Given the description of an element on the screen output the (x, y) to click on. 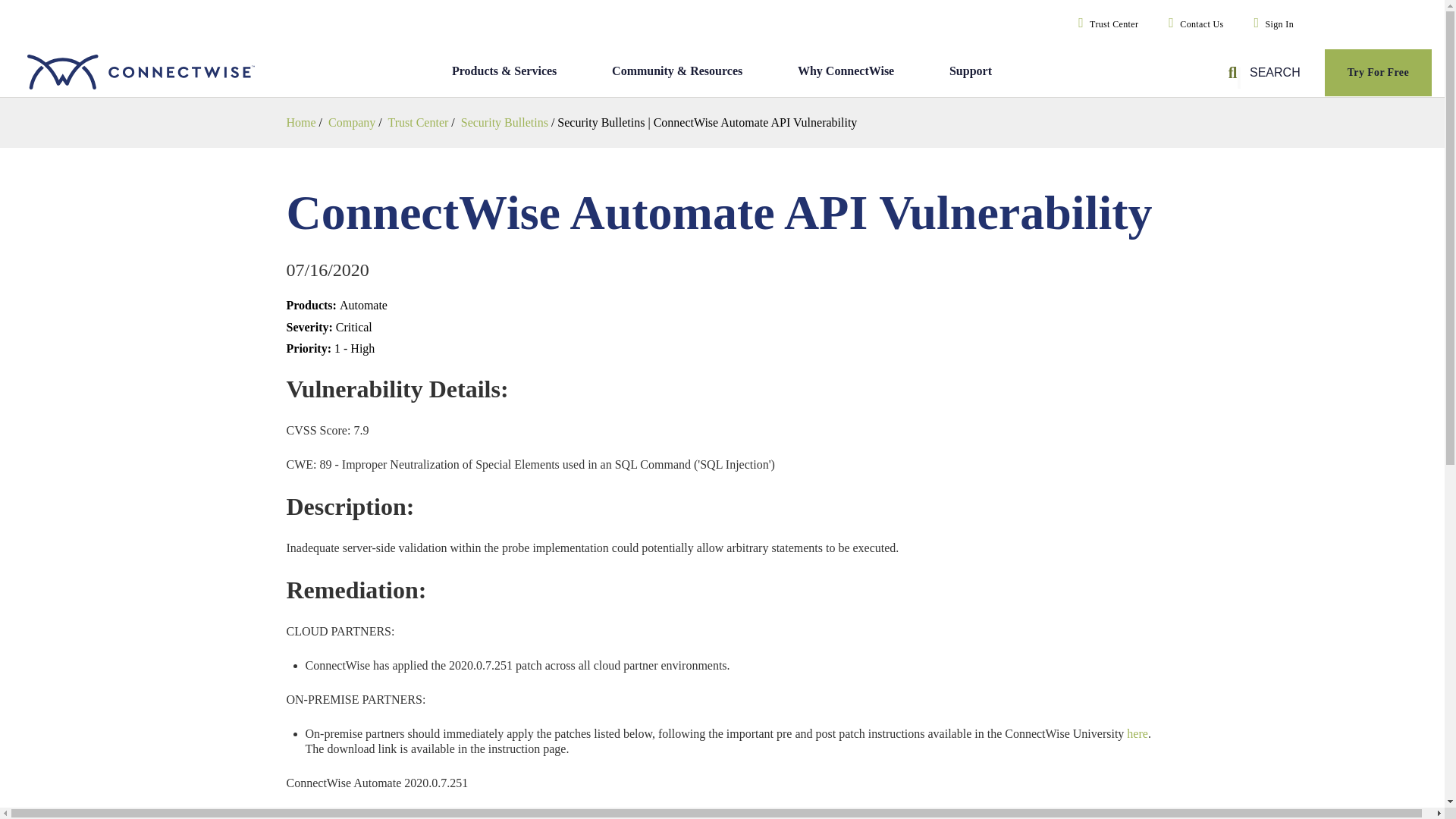
Trust Center (1104, 24)
Sign In (1270, 24)
Trust Center (1104, 24)
Contact Us (1192, 24)
ConnectWise Logo (155, 72)
Try For Free (1377, 72)
SEARCH (1266, 72)
Contact Us (1192, 24)
Sign In (1270, 24)
